Given the description of an element on the screen output the (x, y) to click on. 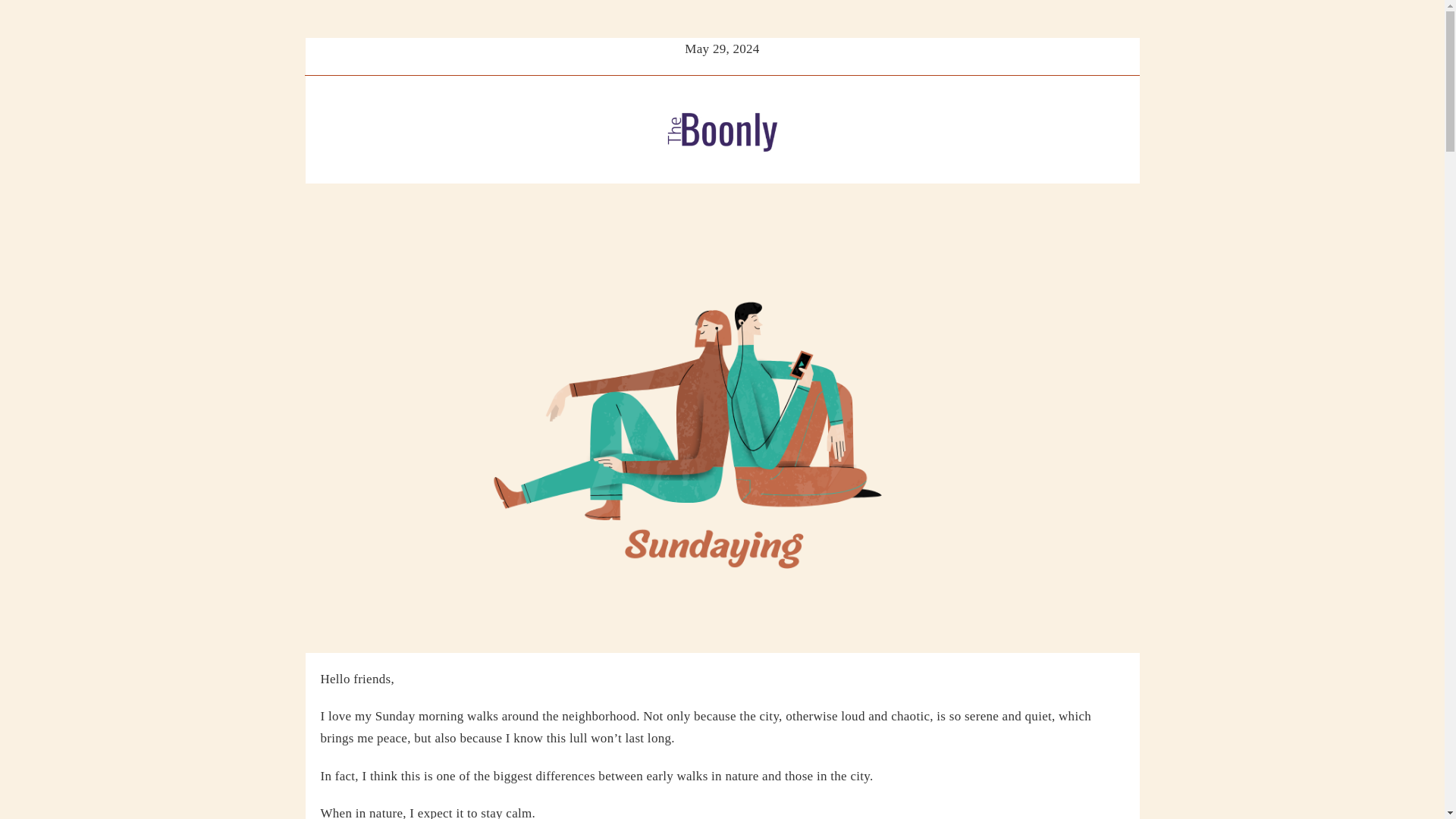
May 29, 2024 (721, 63)
